Given the description of an element on the screen output the (x, y) to click on. 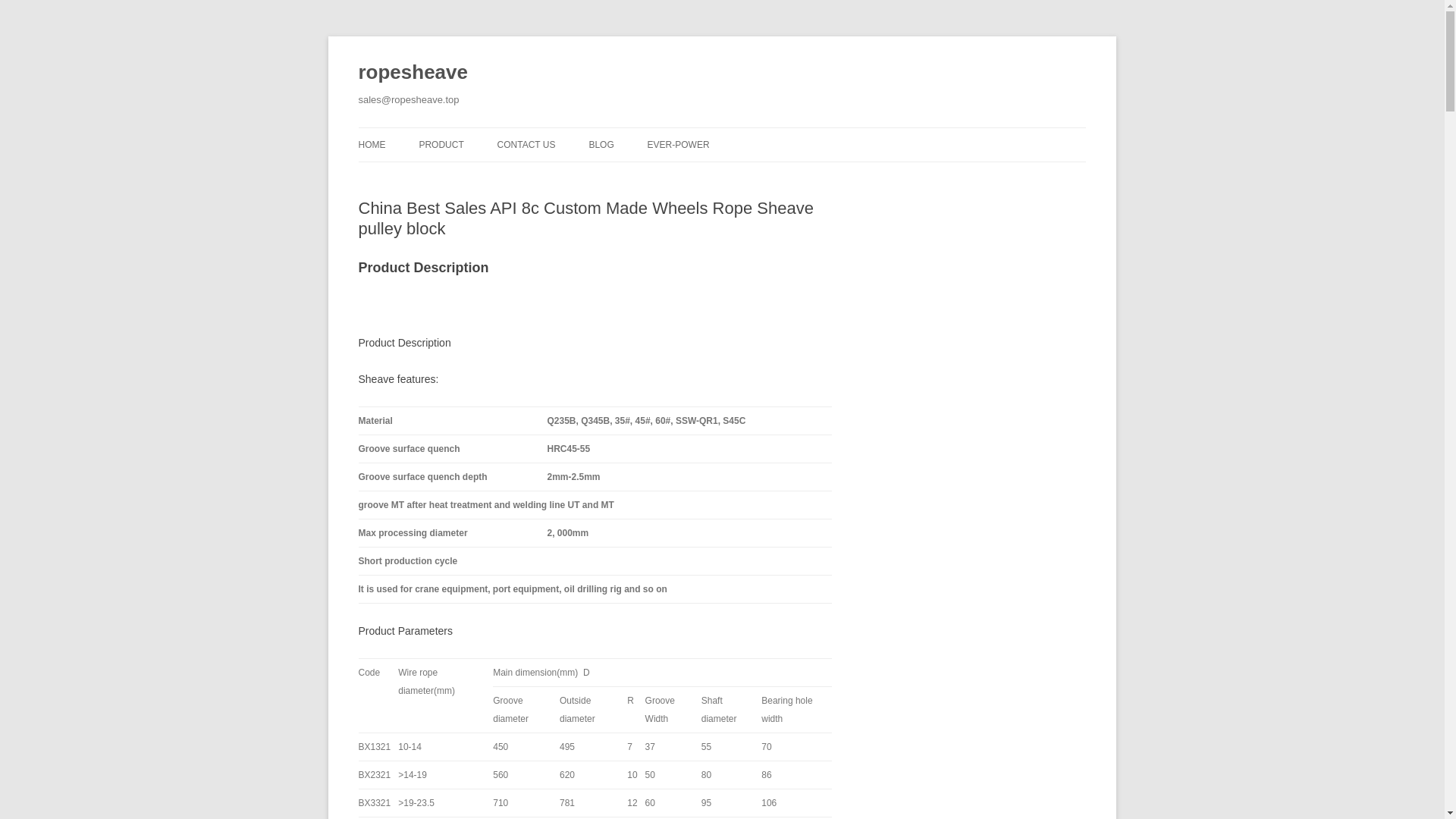
ropesheave (412, 72)
PRODUCT (441, 144)
ropesheave (412, 72)
CONTACT US (526, 144)
EVER-POWER (678, 144)
